Given the description of an element on the screen output the (x, y) to click on. 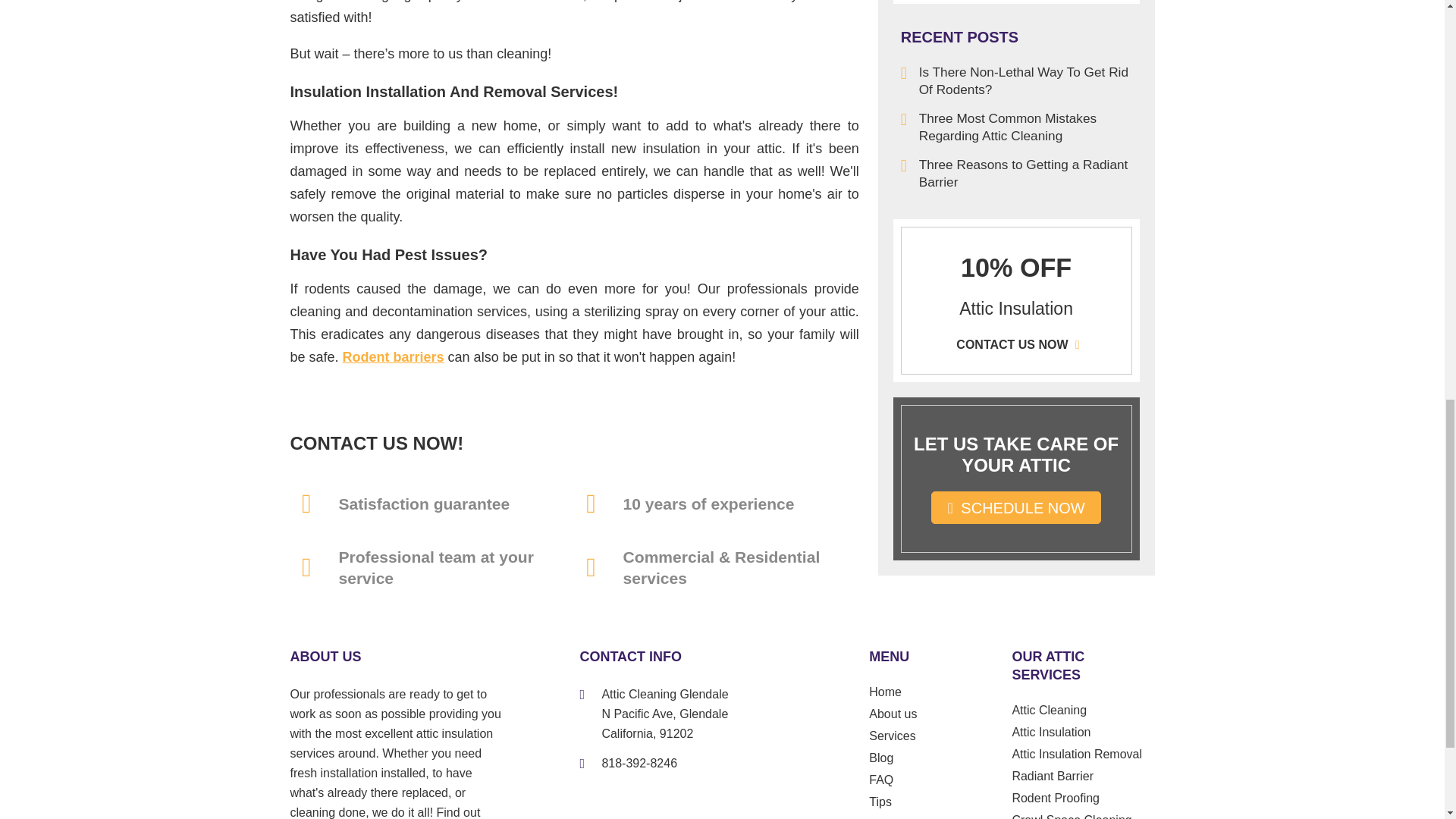
Rodent barriers (393, 356)
CONTACT US NOW (1015, 343)
Three Most Common Mistakes Regarding Attic Cleaning (1016, 126)
Three Reasons to Getting a Radiant Barrier (1016, 172)
Rodent barriers (393, 356)
Is There Non-Lethal Way To Get Rid Of Rodents? (1016, 80)
SCHEDULE NOW (1015, 507)
